Given the description of an element on the screen output the (x, y) to click on. 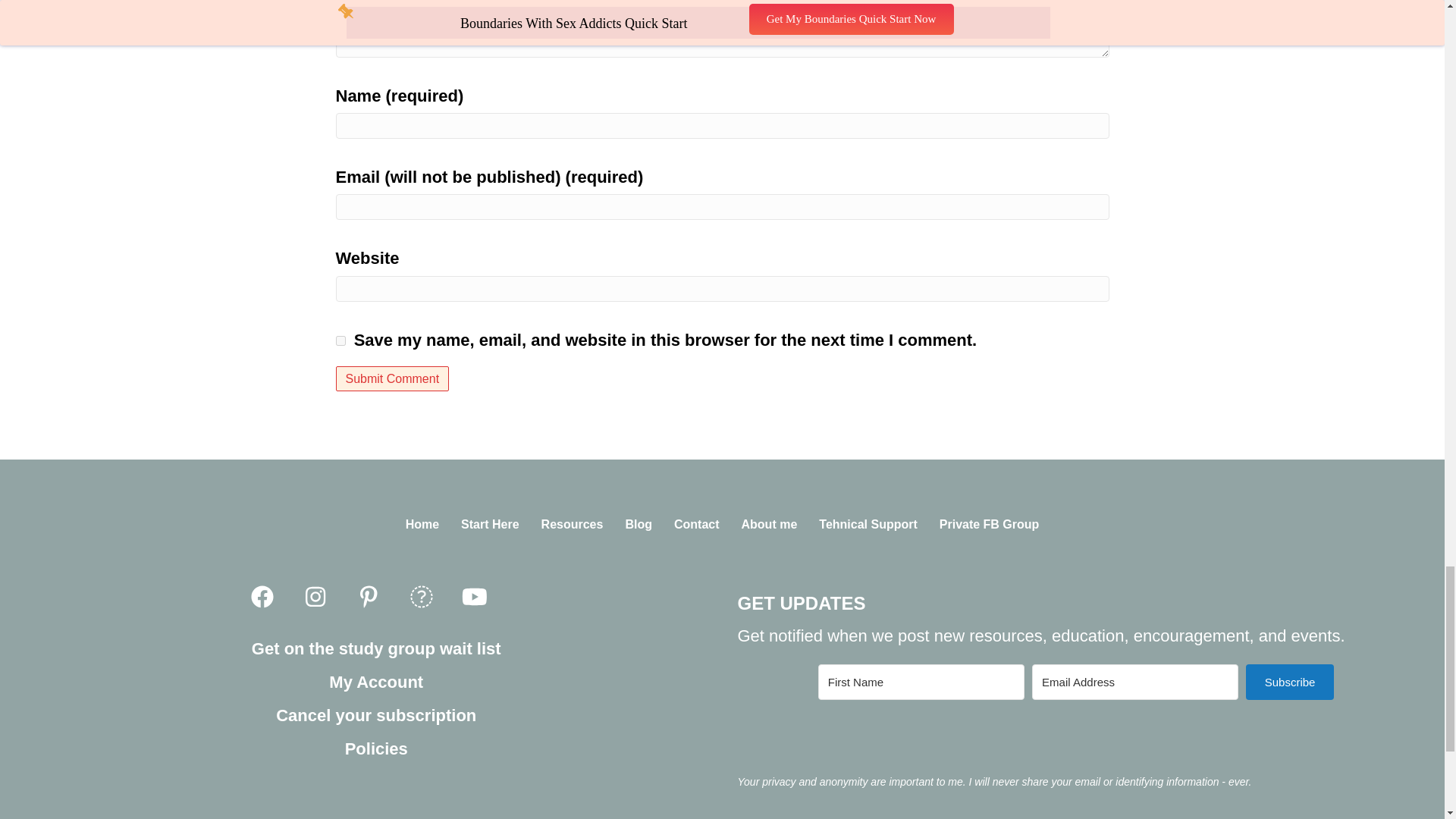
yes (339, 340)
Pinterest (368, 597)
Facebook (262, 597)
Start Here (489, 525)
Blog (638, 525)
Instagram (314, 597)
Resources (572, 525)
About me (769, 525)
Tehnical Support (867, 525)
Contact (696, 525)
Submit Comment (391, 378)
Home (421, 525)
Twitter (421, 597)
YouTube (474, 597)
Submit Comment (391, 378)
